Given the description of an element on the screen output the (x, y) to click on. 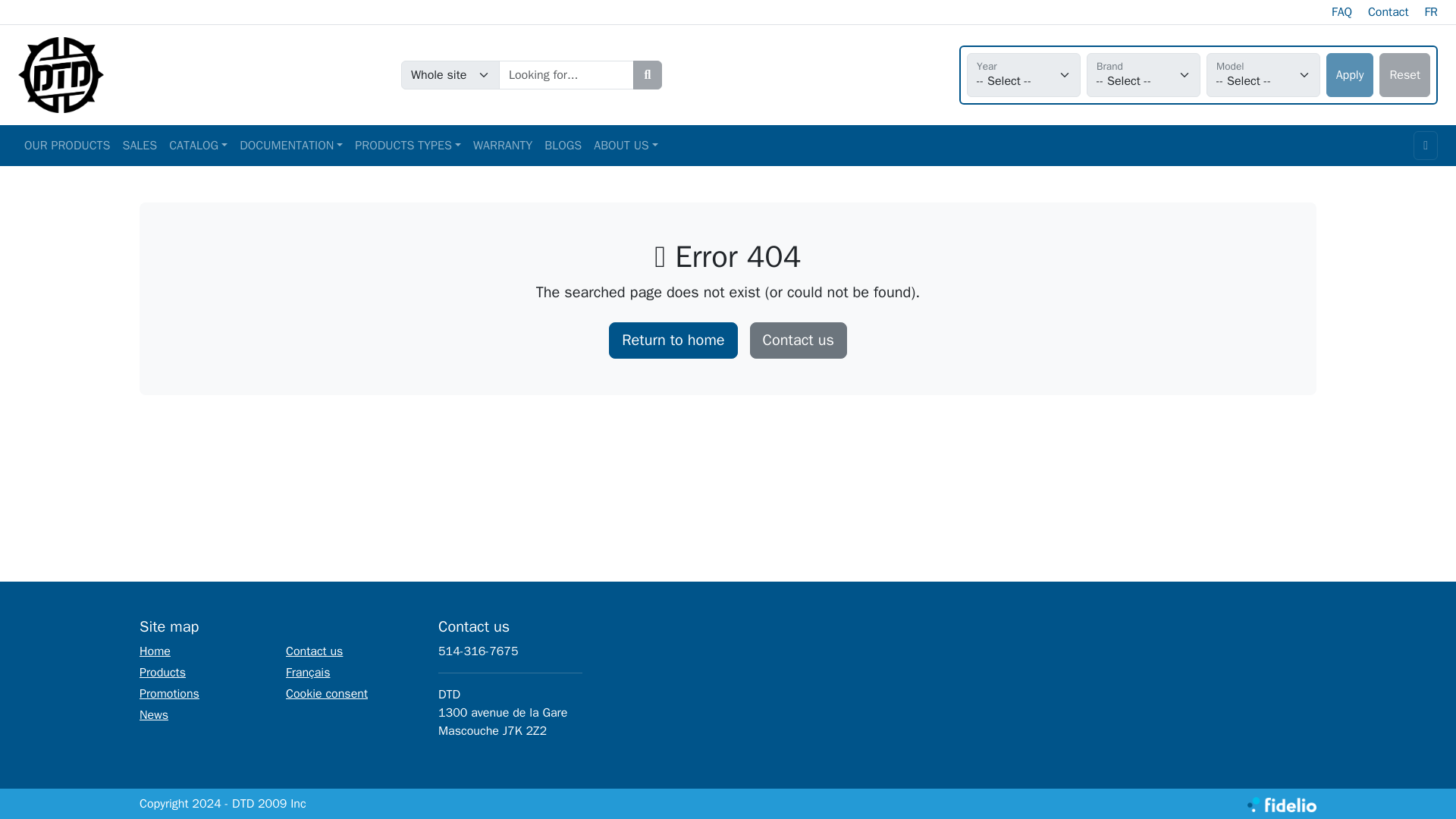
FR (1430, 11)
Contact (1388, 11)
Apply (1350, 75)
CATALOG (197, 145)
FAQ (1342, 11)
Reset (1403, 75)
DOCUMENTATION (290, 145)
PRODUCTS TYPES (408, 145)
Search (647, 74)
SALES (139, 145)
OUR PRODUCTS (66, 145)
